Given the description of an element on the screen output the (x, y) to click on. 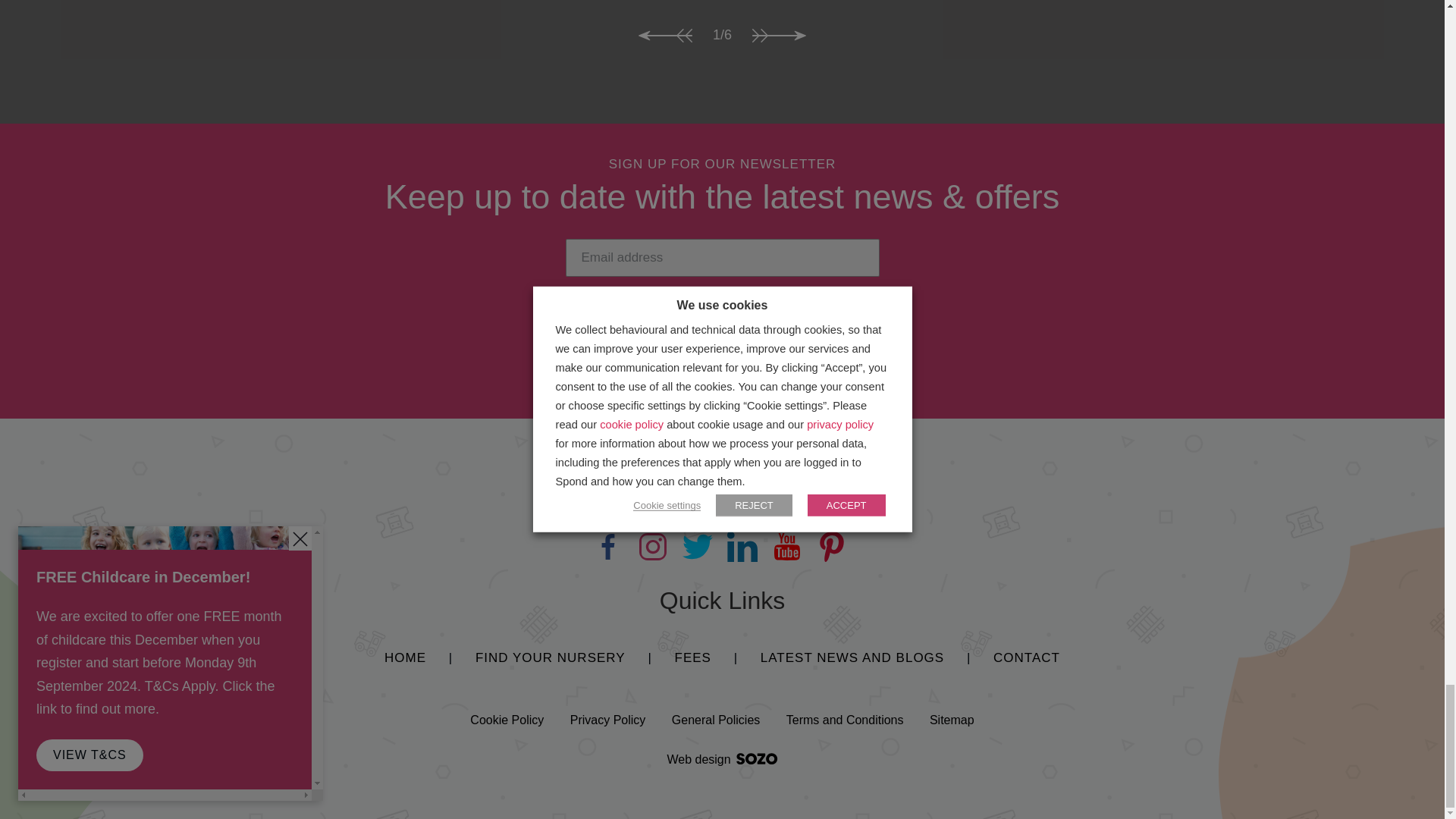
Follow us on facebook (607, 546)
Follow us on instagram (651, 546)
Follow us on twitter (697, 546)
